Given the description of an element on the screen output the (x, y) to click on. 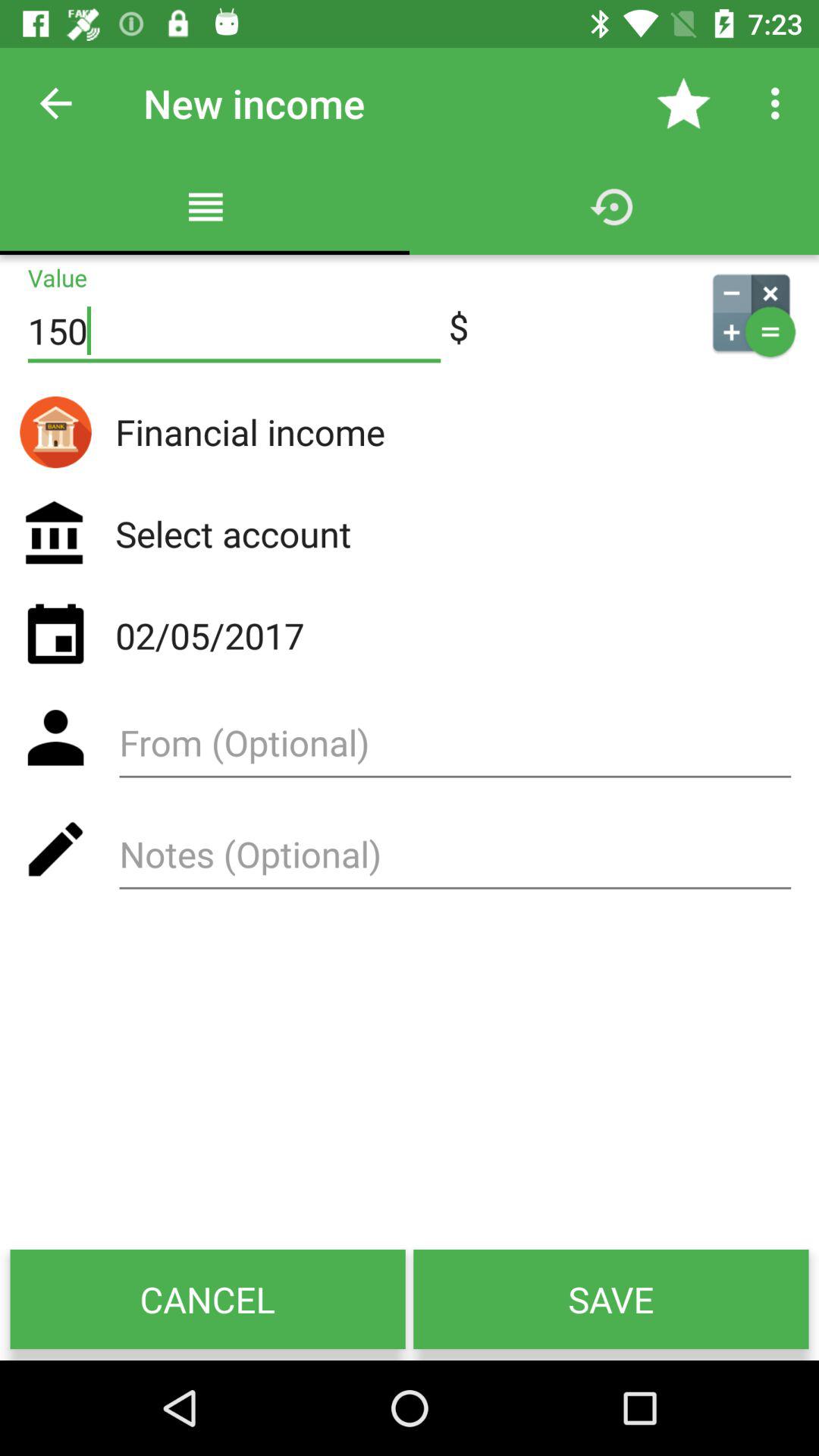
go to icon (751, 312)
